Given the description of an element on the screen output the (x, y) to click on. 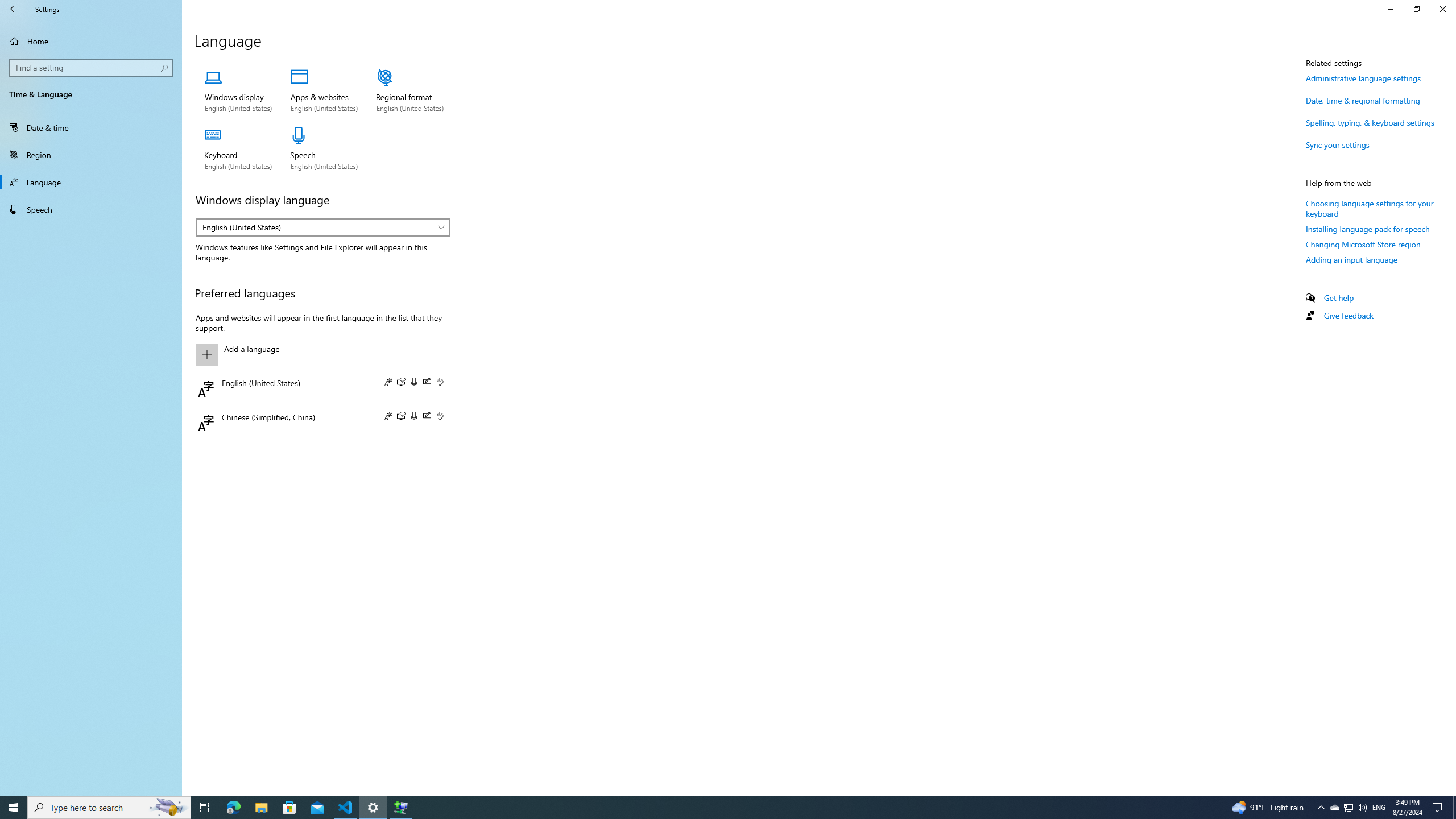
Give feedback (1348, 315)
Windows display language (322, 227)
English (United States) (317, 226)
